Given the description of an element on the screen output the (x, y) to click on. 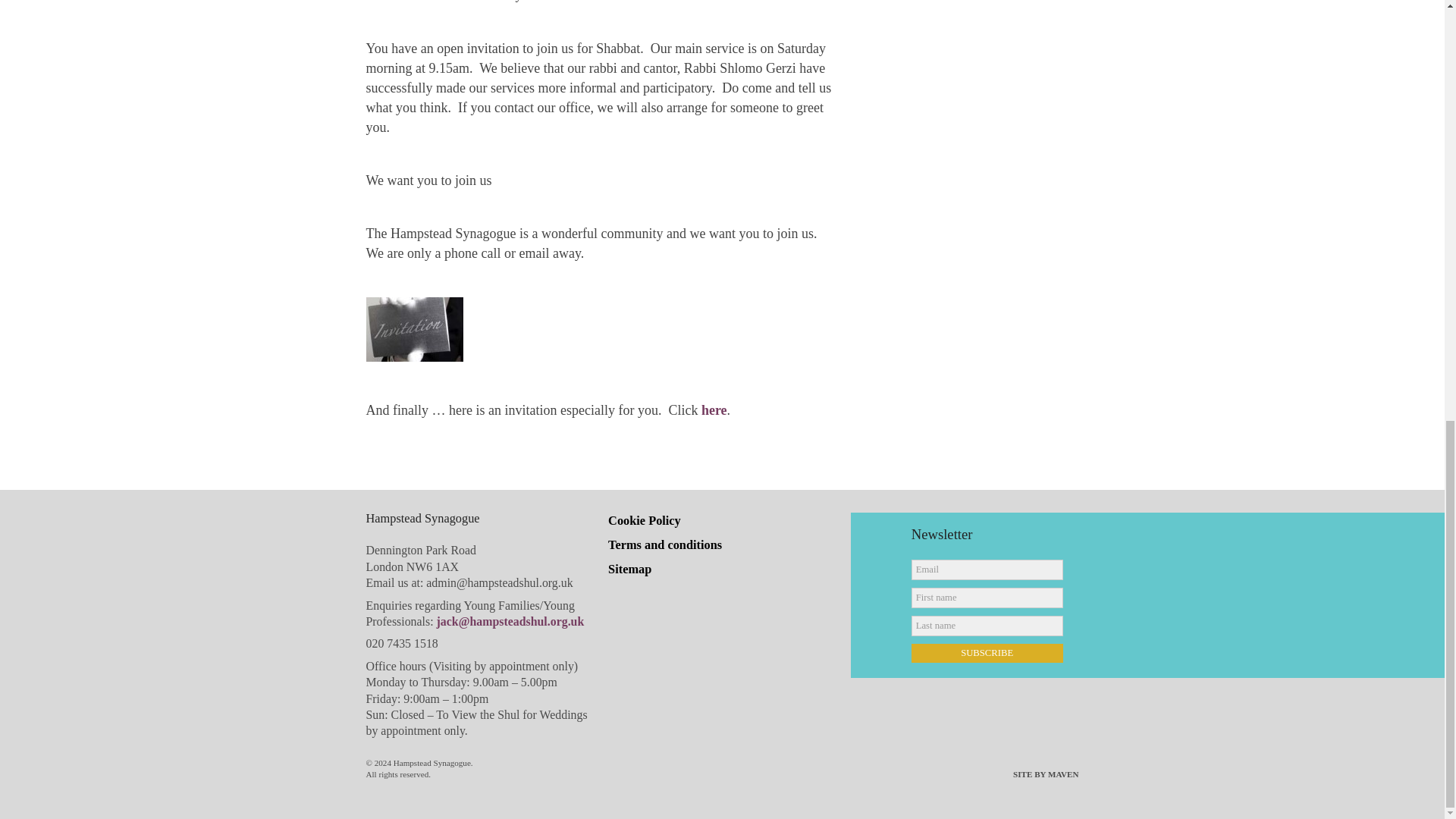
Sitemap (629, 568)
First name (986, 598)
here (713, 409)
SITE BY MAVEN (1045, 775)
Subscribe (986, 652)
Last name (986, 625)
Terms and conditions (665, 544)
Email (986, 569)
Subscribe (986, 652)
Cookie Policy (644, 520)
